Given the description of an element on the screen output the (x, y) to click on. 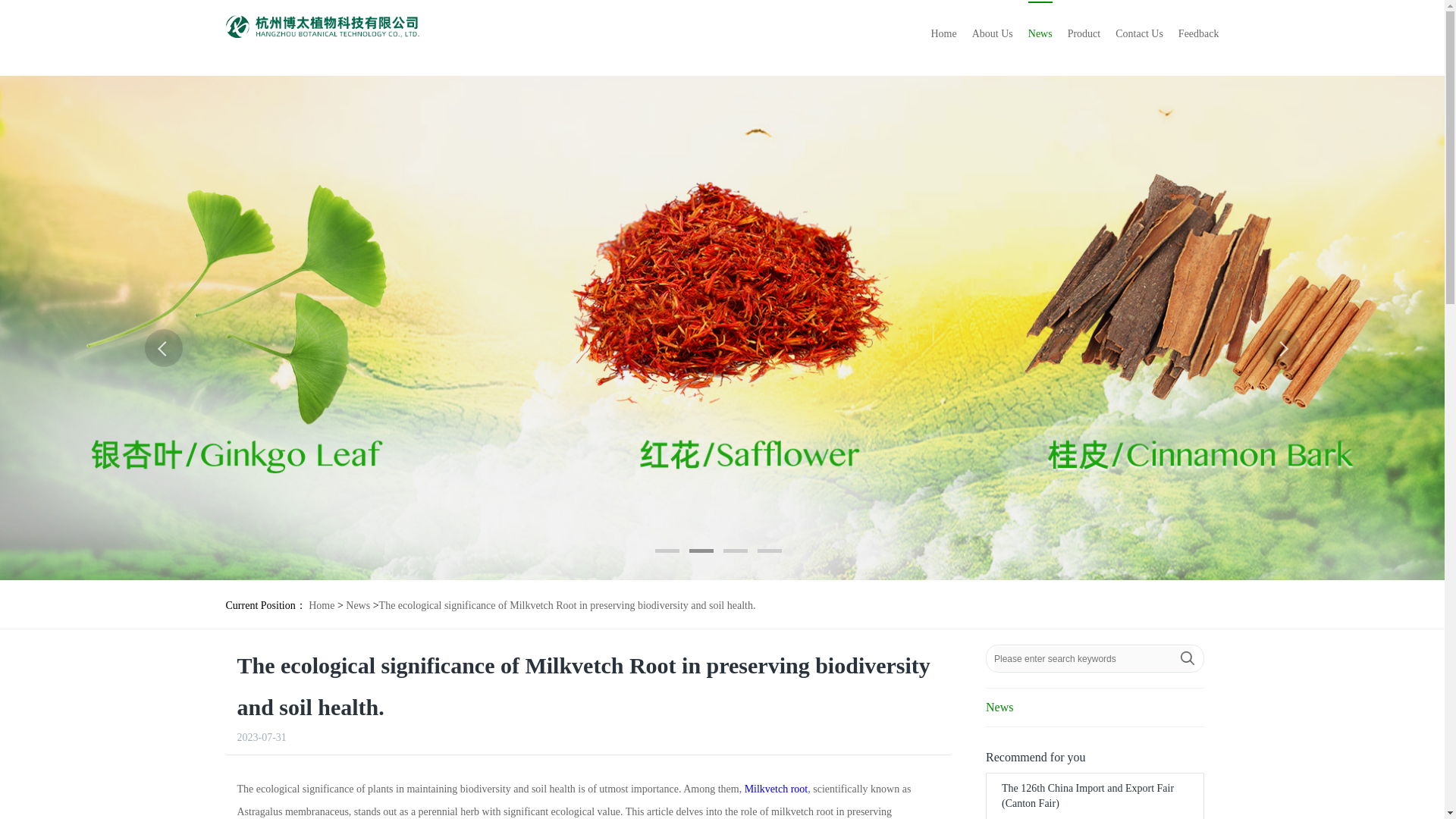
Contact Us (1139, 34)
Feedback (1198, 34)
Home (321, 604)
News (1094, 707)
News (357, 604)
Milkvetch root (776, 788)
Feedback (1198, 34)
About Us (992, 34)
Home (321, 604)
